Given the description of an element on the screen output the (x, y) to click on. 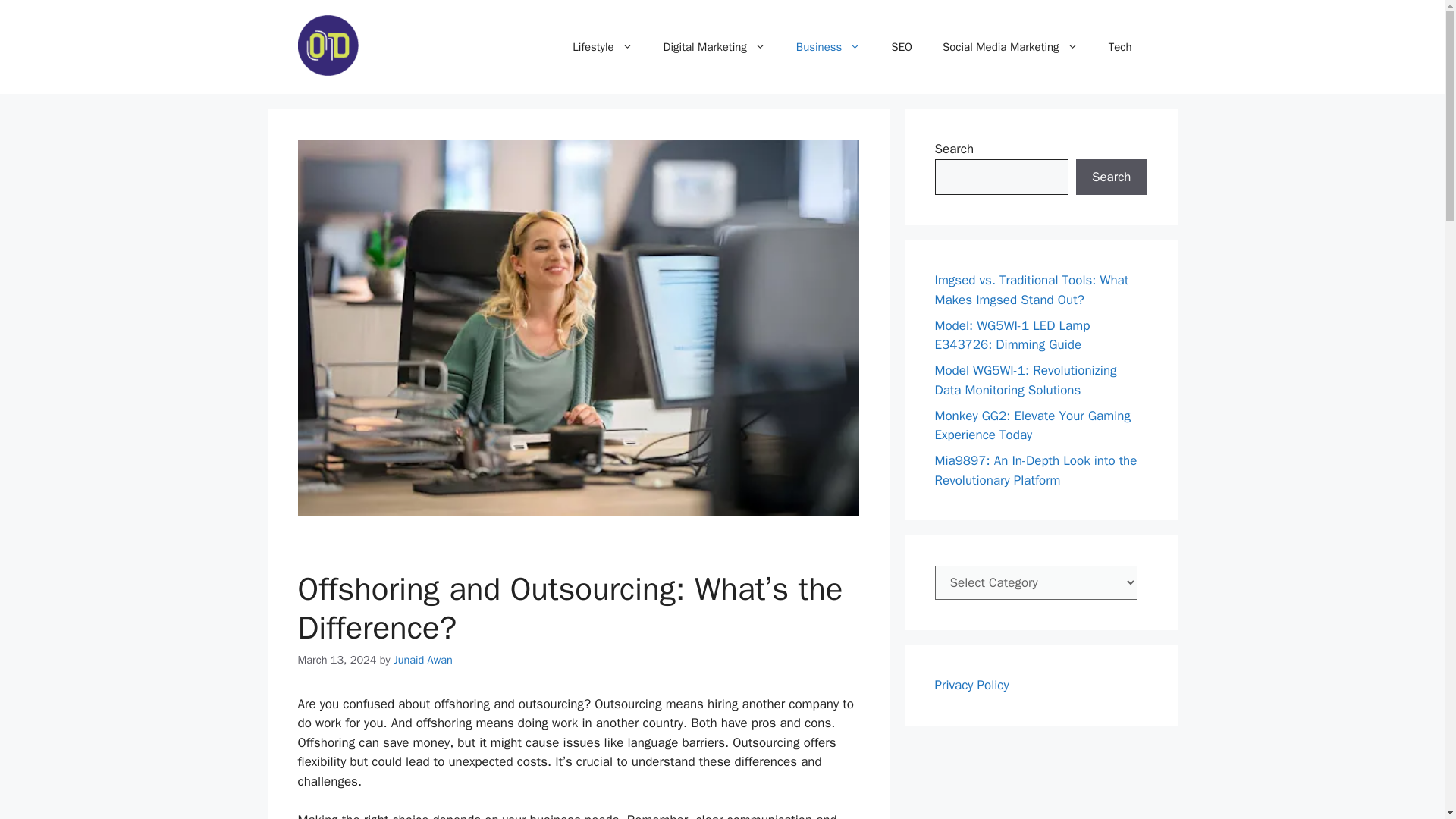
Model: WG5WI-1 LED Lamp E343726: Dimming Guide (1011, 334)
Tech (1120, 46)
SEO (901, 46)
Monkey GG2: Elevate Your Gaming Experience Today (1031, 425)
Lifestyle (602, 46)
View all posts by Junaid Awan (422, 659)
Imgsed vs. Traditional Tools: What Makes Imgsed Stand Out? (1031, 289)
Social Media Marketing (1010, 46)
Junaid Awan (422, 659)
Digital Marketing (713, 46)
